Given the description of an element on the screen output the (x, y) to click on. 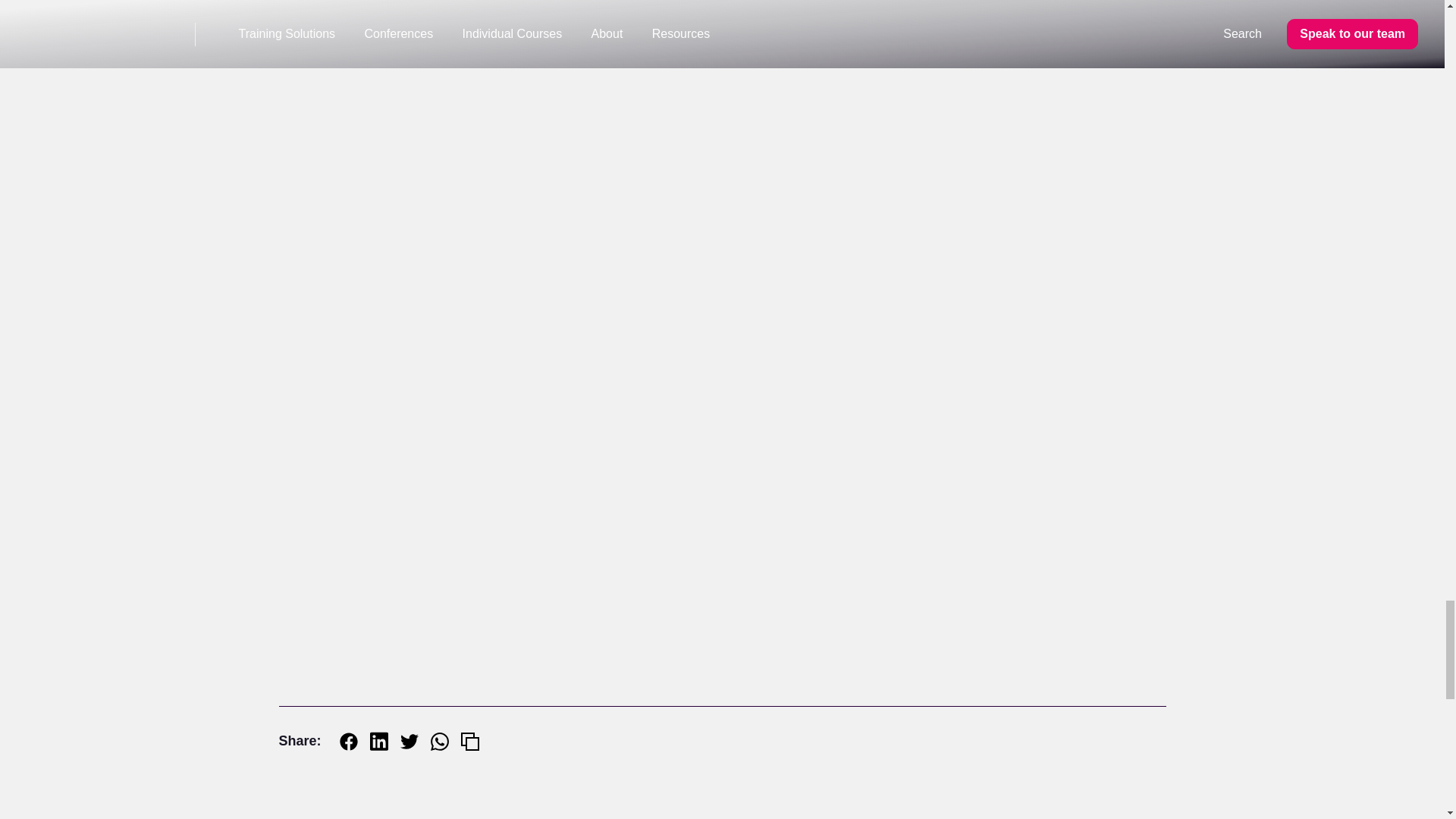
Share on LinkedIn (378, 741)
Share on Facebook (348, 741)
Copy link (470, 741)
Share on Twitter (409, 741)
Share on WhatsApp (439, 741)
